Given the description of an element on the screen output the (x, y) to click on. 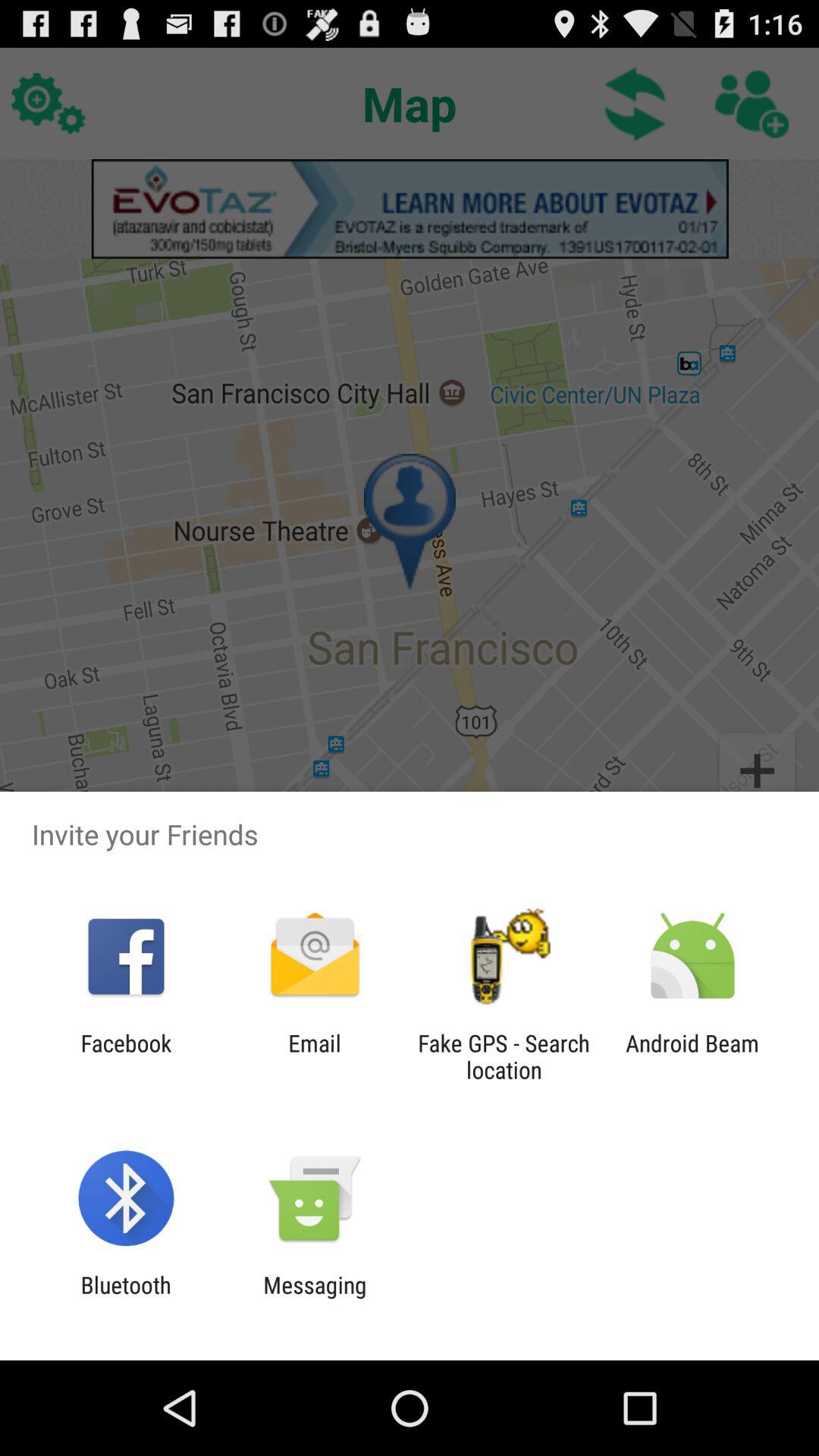
choose the icon to the left of the email item (125, 1056)
